Given the description of an element on the screen output the (x, y) to click on. 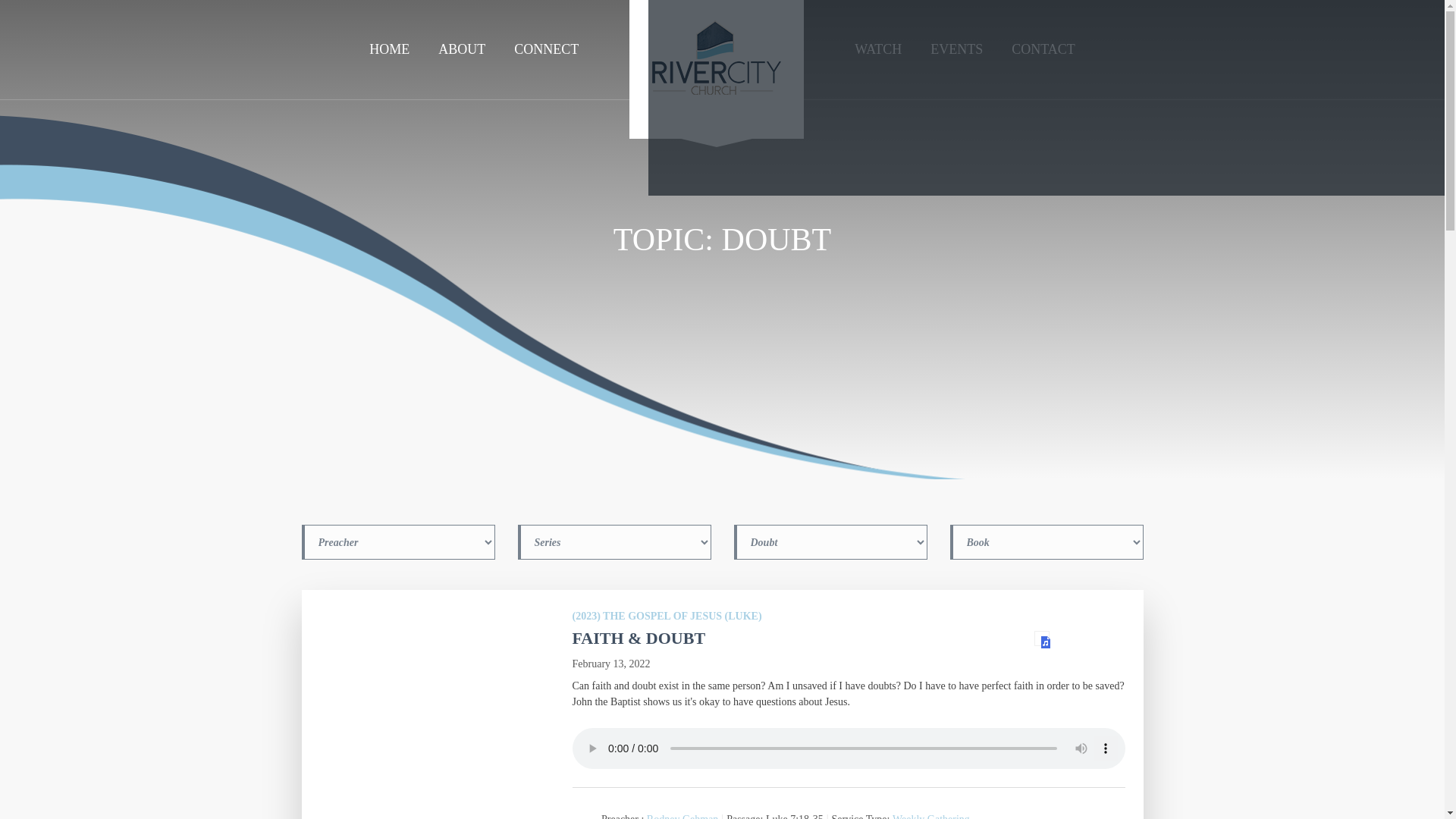
CONTACT (1043, 49)
Share via Facebook (784, 97)
LOGO (715, 73)
Preacher (398, 541)
Rodney Gehman (681, 816)
Share via Twitter (1307, 97)
Share via Instagram (1046, 97)
Series (613, 541)
Book (1045, 541)
Audio (1041, 638)
